Given the description of an element on the screen output the (x, y) to click on. 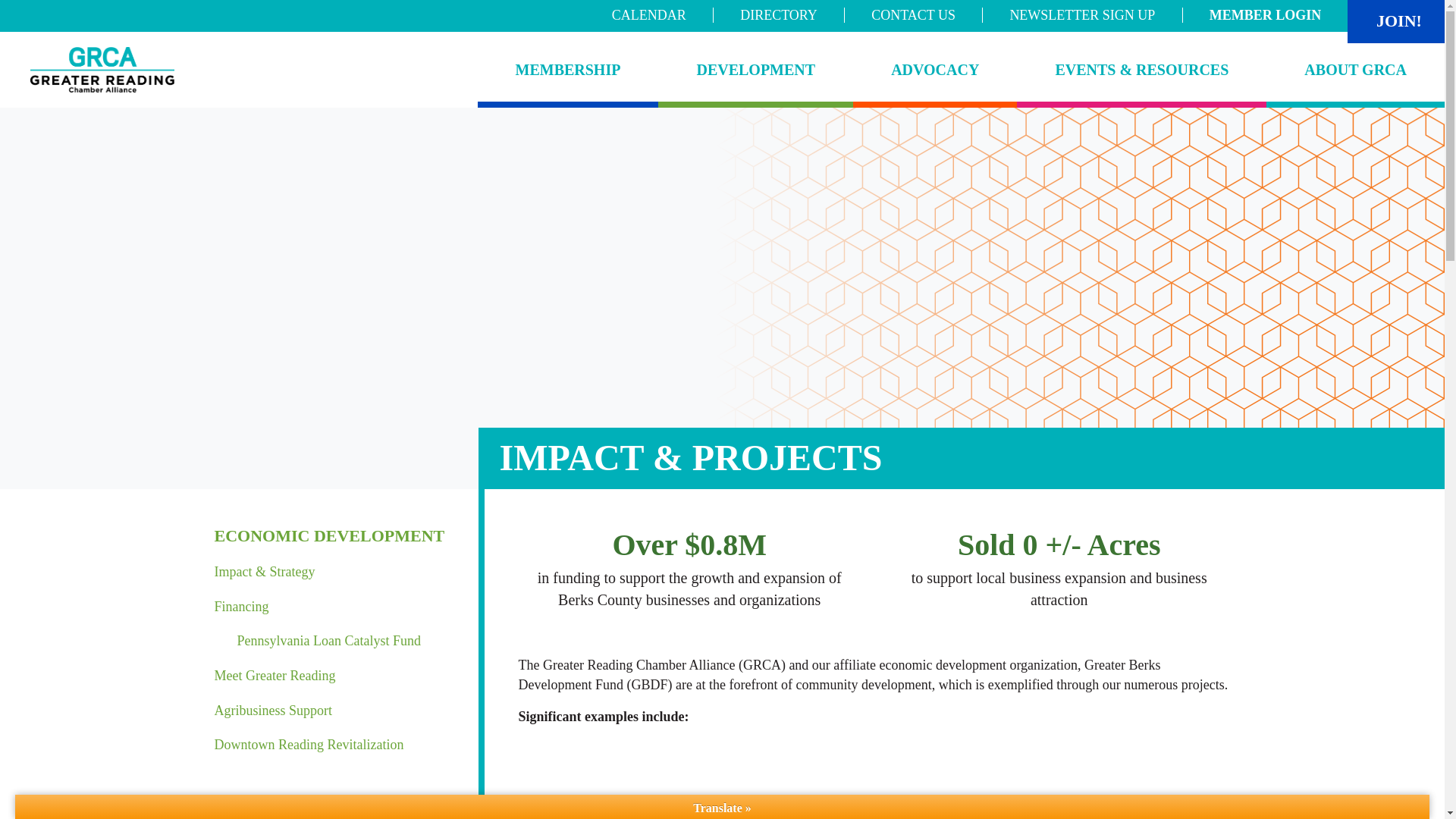
MEMBER LOGIN (1265, 14)
CALENDAR (649, 14)
JOIN! (1399, 21)
NEWSLETTER SIGN UP (1081, 14)
MEMBERSHIP (568, 69)
CONTACT US (912, 14)
DIRECTORY (778, 14)
DEVELOPMENT (755, 69)
